Given the description of an element on the screen output the (x, y) to click on. 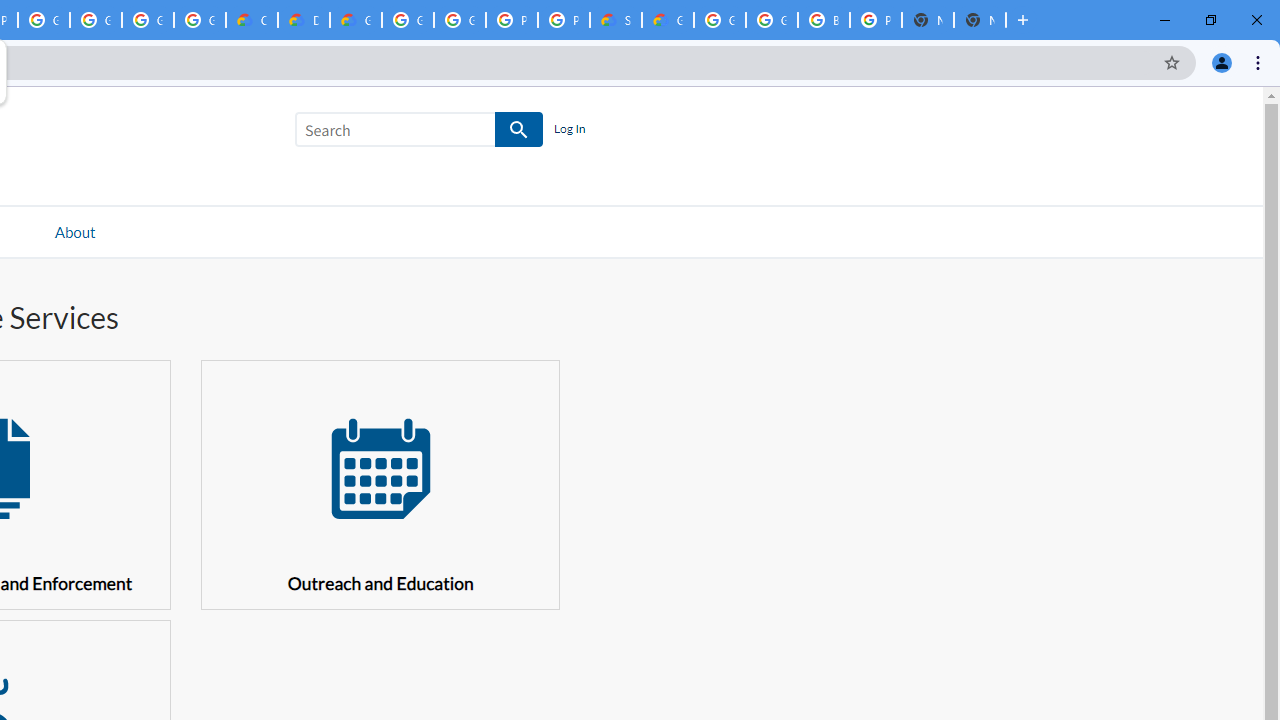
Google Workspace - Specific Terms (147, 20)
Google Workspace - Specific Terms (200, 20)
